Given the description of an element on the screen output the (x, y) to click on. 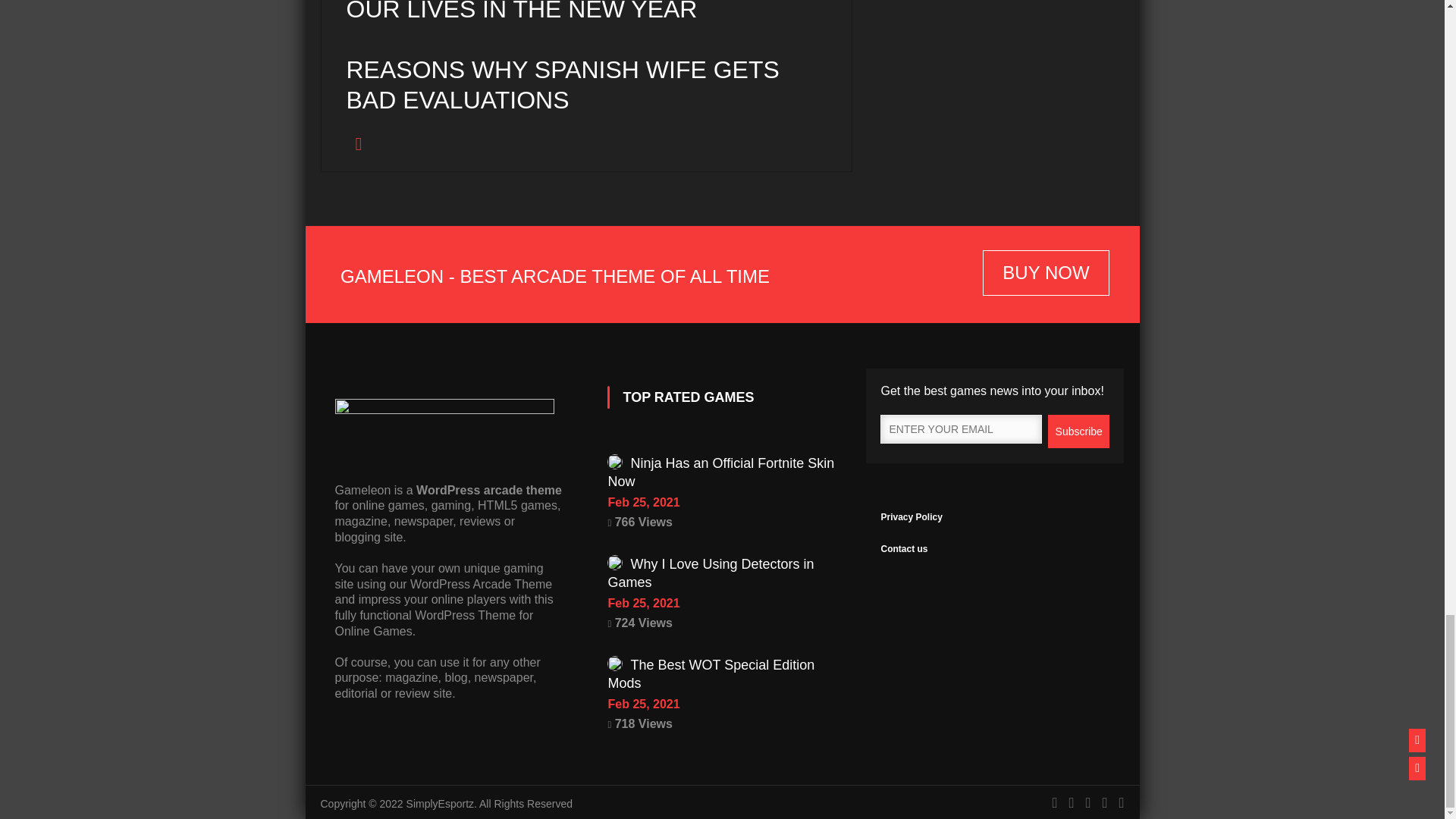
Subscribe (1078, 431)
Feb 25, 2021 (721, 503)
Feb 25, 2021 (721, 704)
Feb 25, 2021 (721, 603)
REASONS WHY SPANISH WIFE GETS BAD EVALUATIONS (586, 103)
HOW ROMANIAN GIRL TRANSFORMED OUR LIVES IN THE NEW YEAR (592, 31)
